Given the description of an element on the screen output the (x, y) to click on. 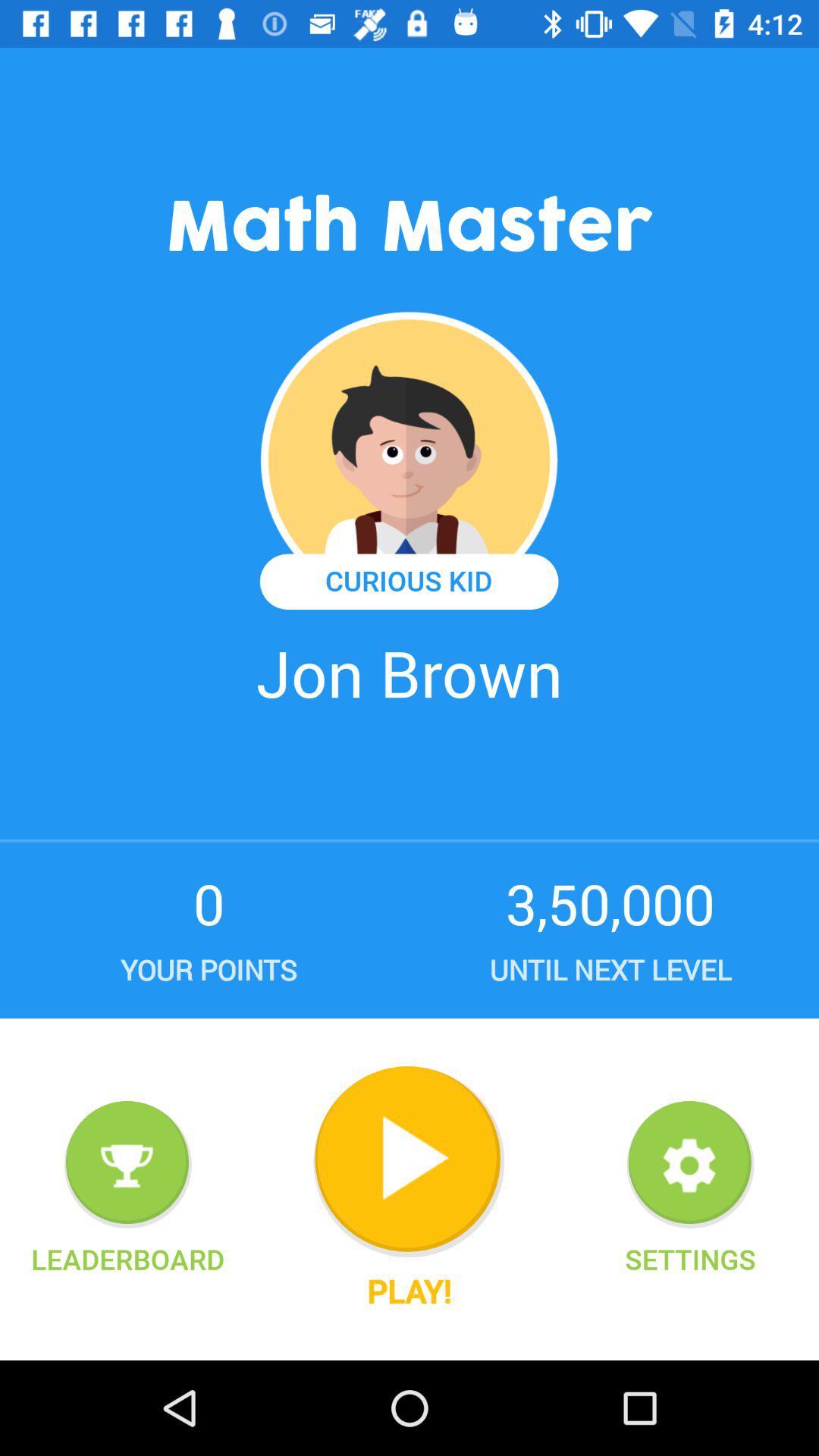
play movie (408, 1161)
